Given the description of an element on the screen output the (x, y) to click on. 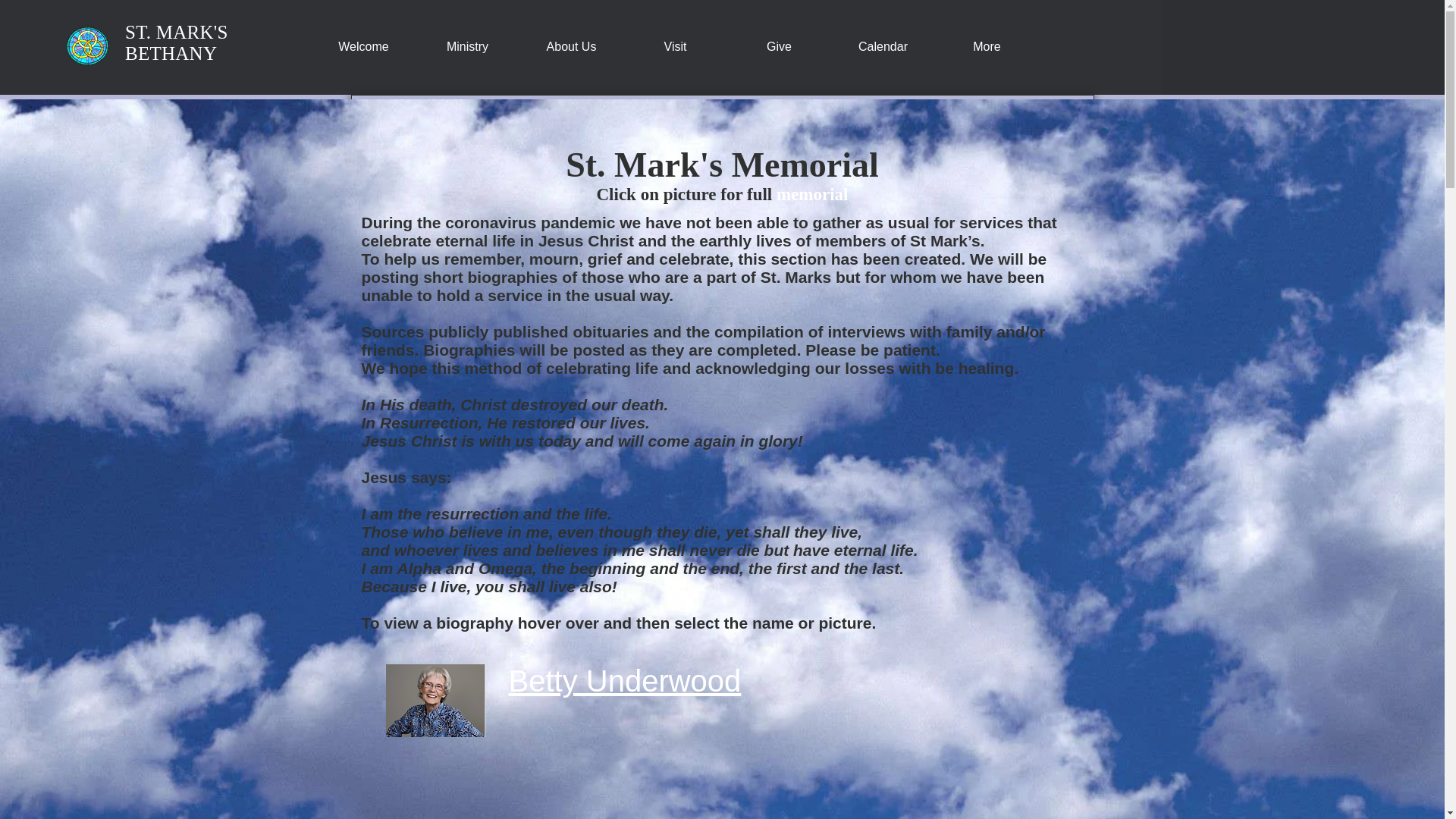
Give (778, 46)
Ministry (466, 46)
Calendar (882, 46)
Visit (674, 46)
About Us (571, 46)
Betty Underwood (624, 680)
Welcome (362, 46)
